Given the description of an element on the screen output the (x, y) to click on. 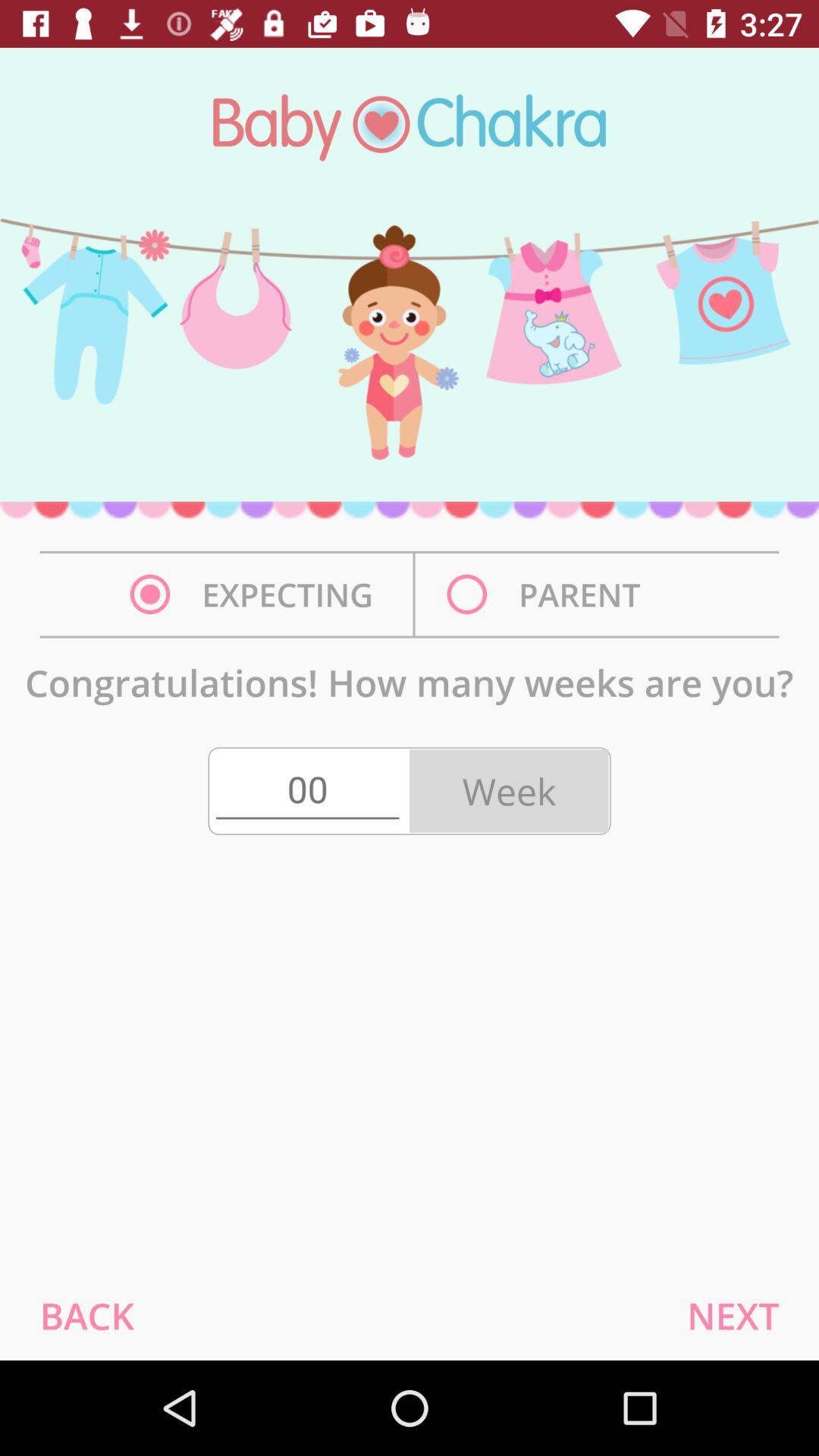
select the back (86, 1315)
